Given the description of an element on the screen output the (x, y) to click on. 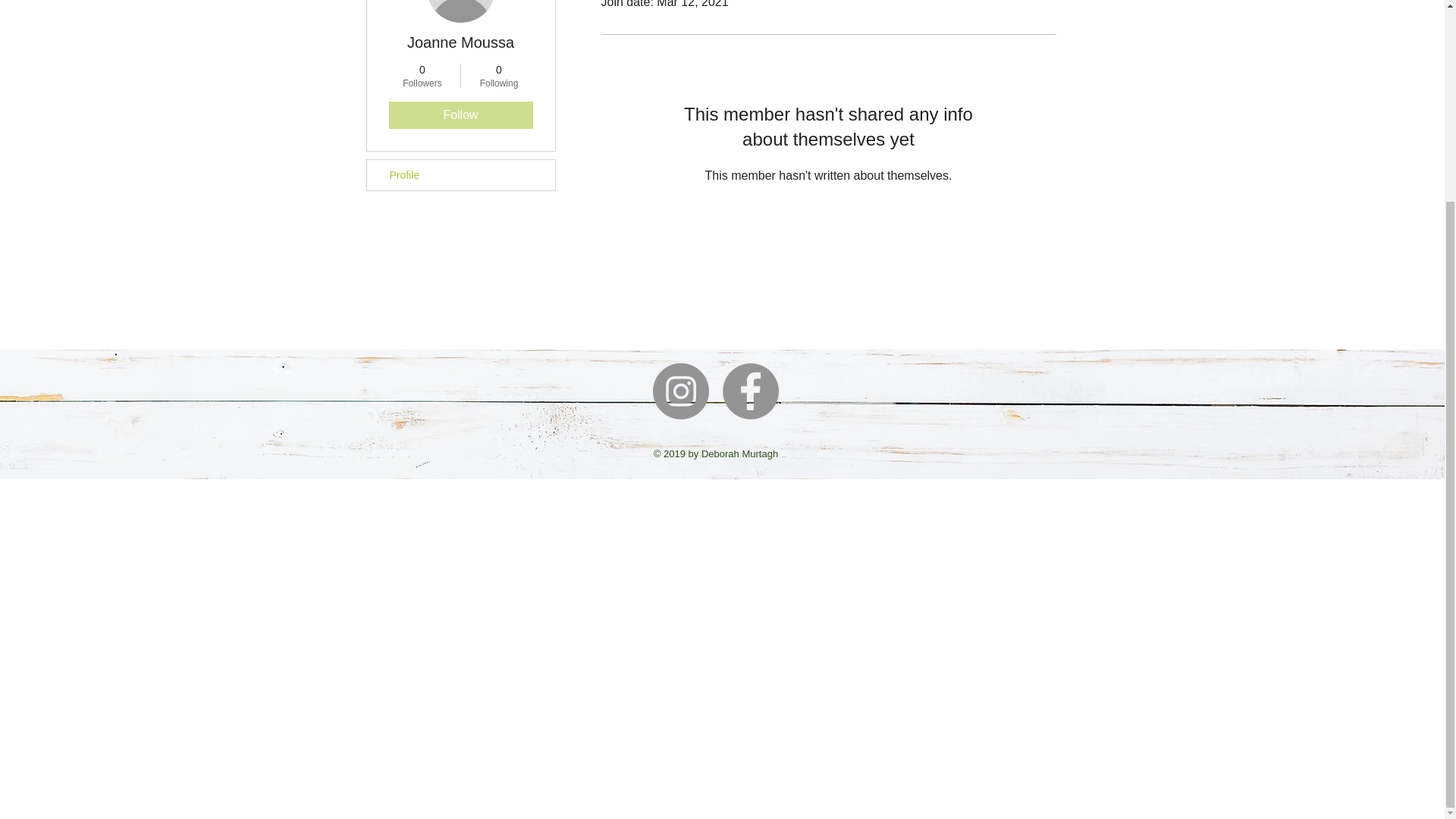
Profile (460, 174)
Follow (460, 114)
